Given the description of an element on the screen output the (x, y) to click on. 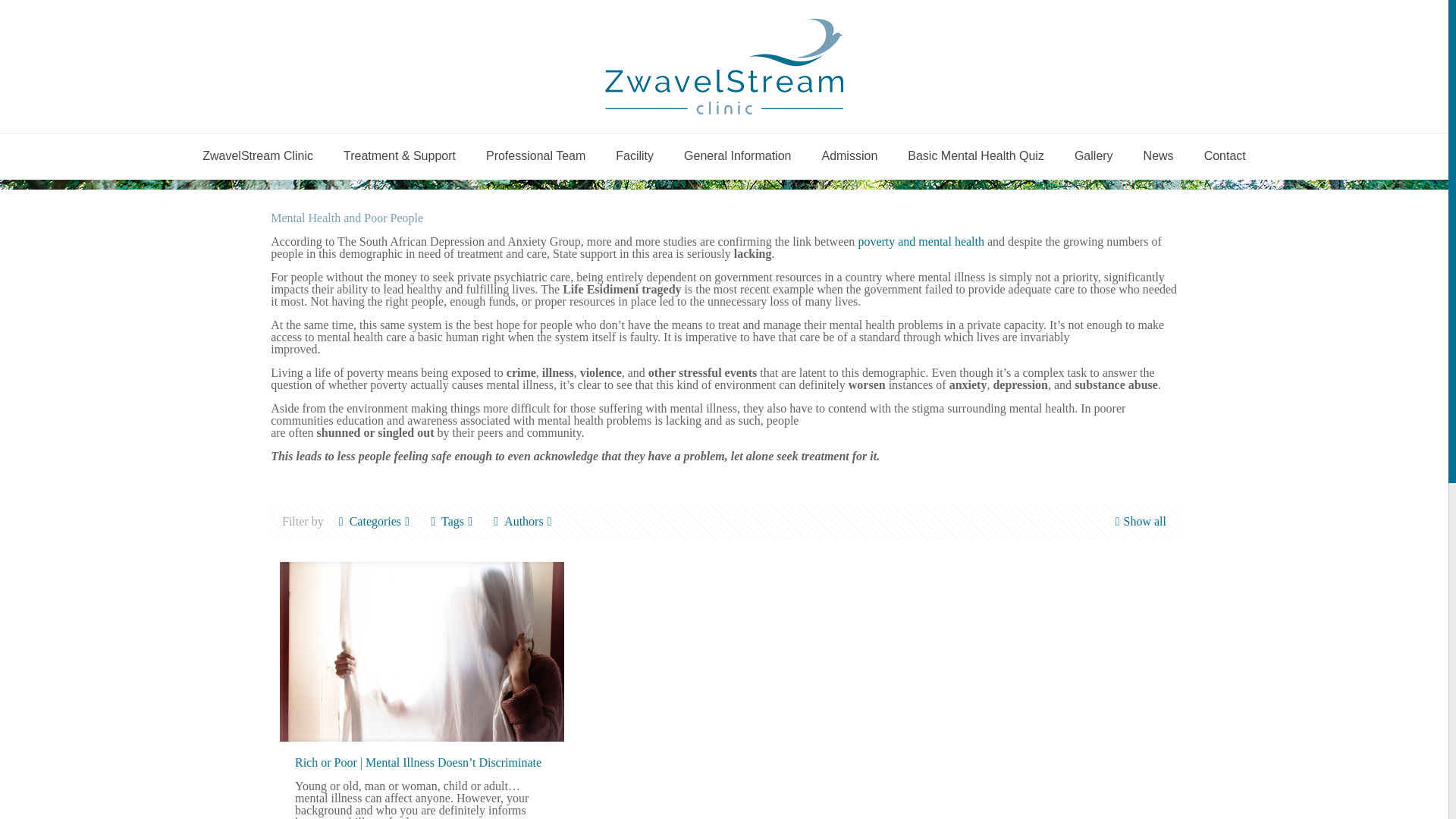
News (1158, 156)
Professional Team (534, 156)
ZwavelStream Clinic (258, 156)
Basic Mental Health Quiz (975, 156)
Admission (849, 156)
Gallery (1093, 156)
zwavelstreamclinic.co.za (724, 66)
Facility (633, 156)
General Information (737, 156)
